Given the description of an element on the screen output the (x, y) to click on. 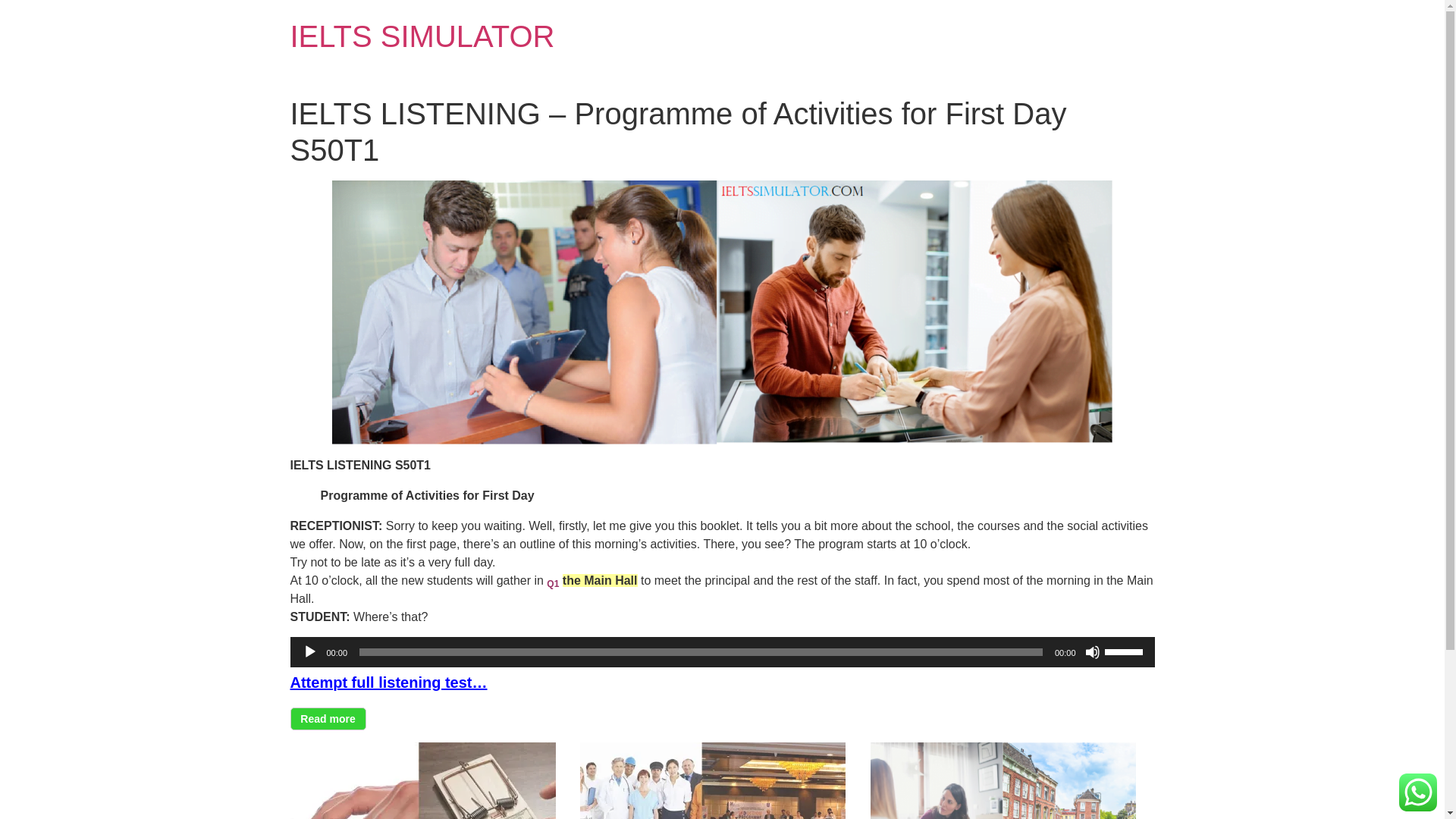
Mute (1091, 652)
Read More (327, 718)
Home (421, 36)
IELTS SIMULATOR (421, 36)
Play (309, 652)
